Given the description of an element on the screen output the (x, y) to click on. 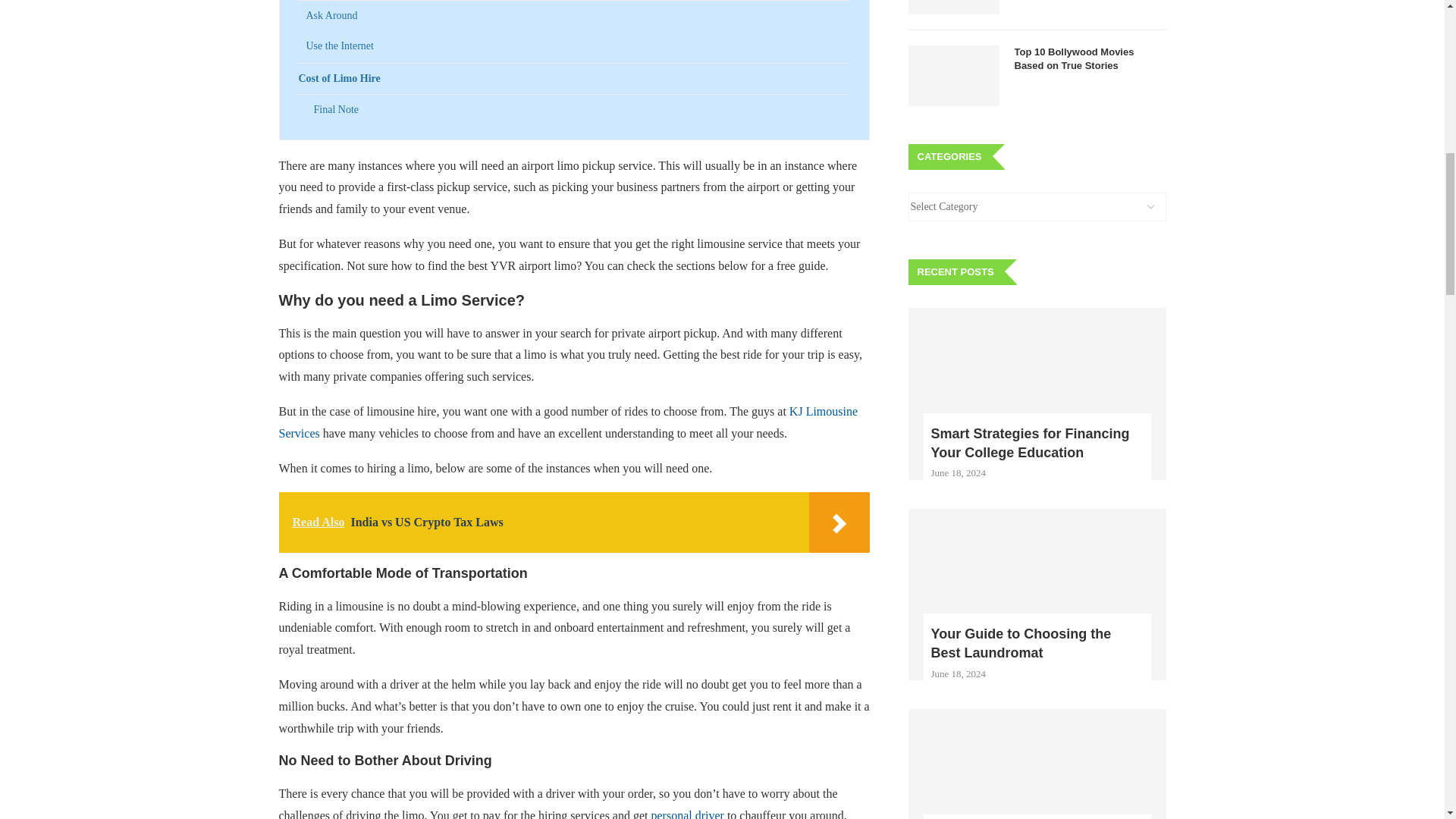
Ask Around (577, 15)
Cost of Limo Hire (574, 78)
Use the Internet (577, 46)
Final Note (582, 110)
